Given the description of an element on the screen output the (x, y) to click on. 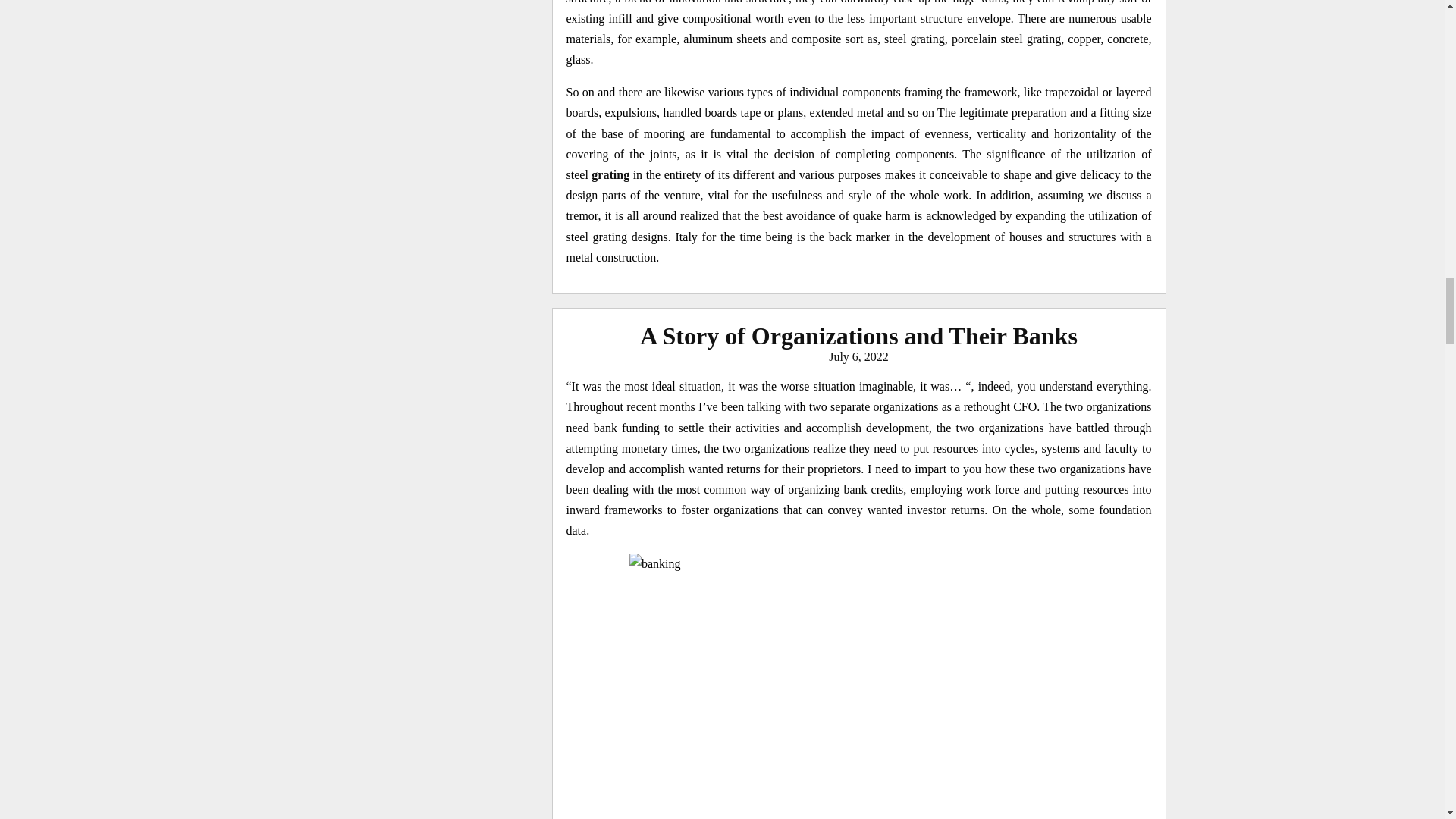
July 6, 2022 (858, 356)
A Story of Organizations and Their Banks (858, 335)
grating (609, 174)
